Given the description of an element on the screen output the (x, y) to click on. 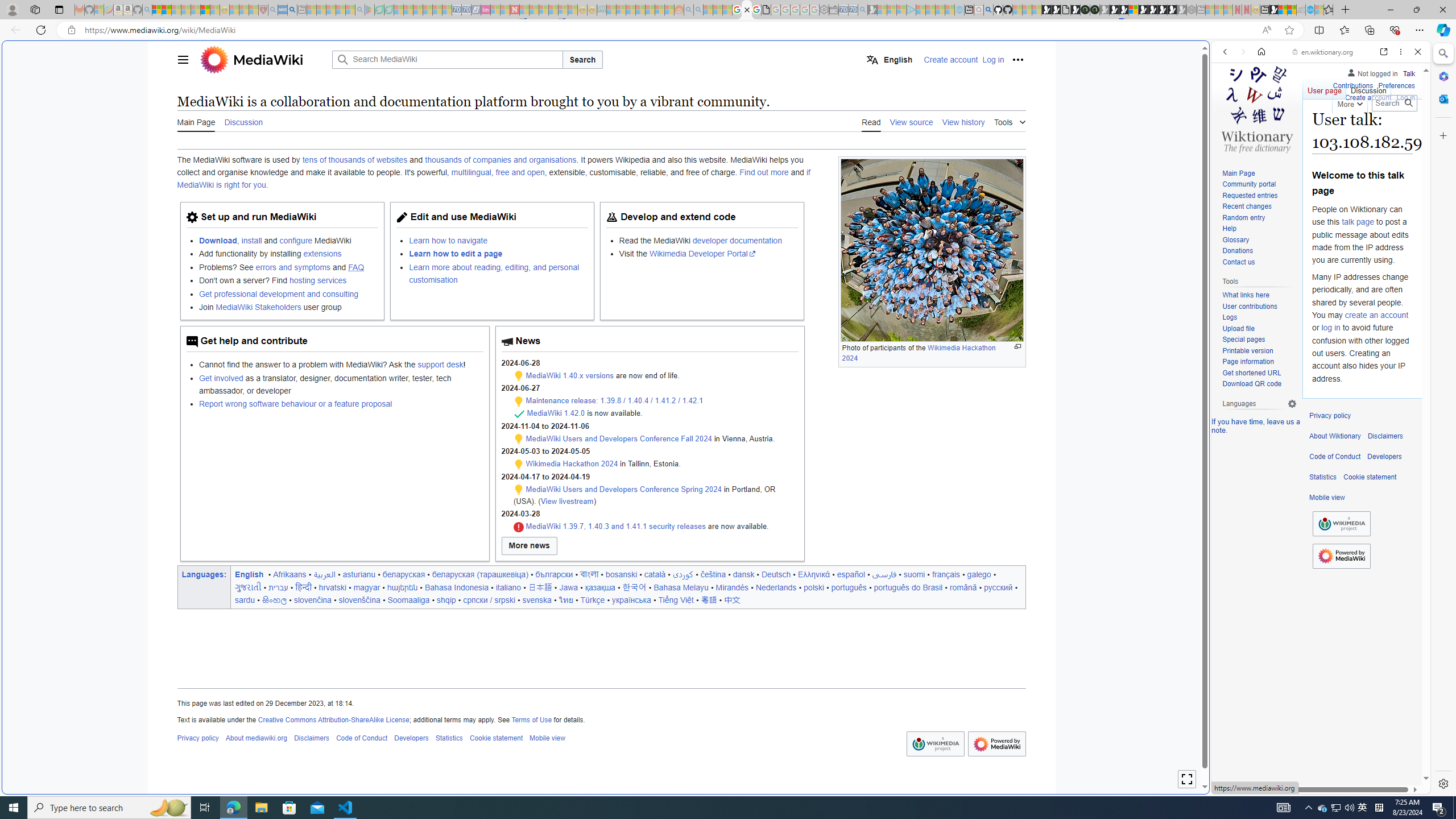
MediaWiki Users and Developers Conference Spring 2024 (623, 488)
Contact us (1259, 262)
Learn how to navigate (498, 239)
Bahasa Indonesia (456, 587)
Discussion (1367, 87)
Language settings (1292, 403)
Get shortened URL (1251, 372)
en.wiktionary.org (1323, 51)
AutomationID: footer-copyrightico (1341, 523)
Community portal (1259, 184)
